Given the description of an element on the screen output the (x, y) to click on. 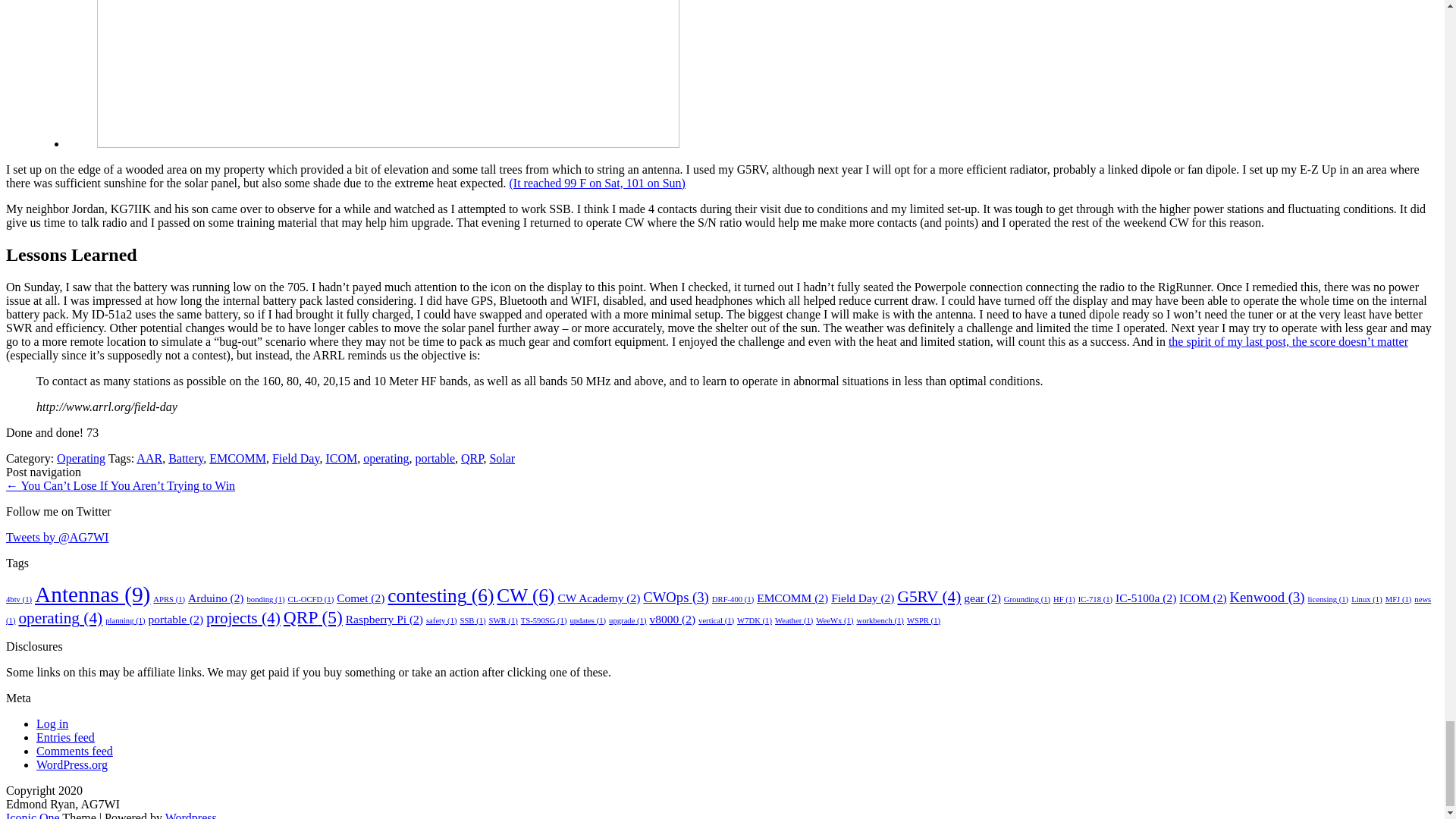
Operating (80, 458)
Field Day (296, 458)
Solar (502, 458)
AAR (148, 458)
EMCOMM (237, 458)
QRP (472, 458)
portable (434, 458)
Battery (185, 458)
ICOM (340, 458)
operating (385, 458)
